Given the description of an element on the screen output the (x, y) to click on. 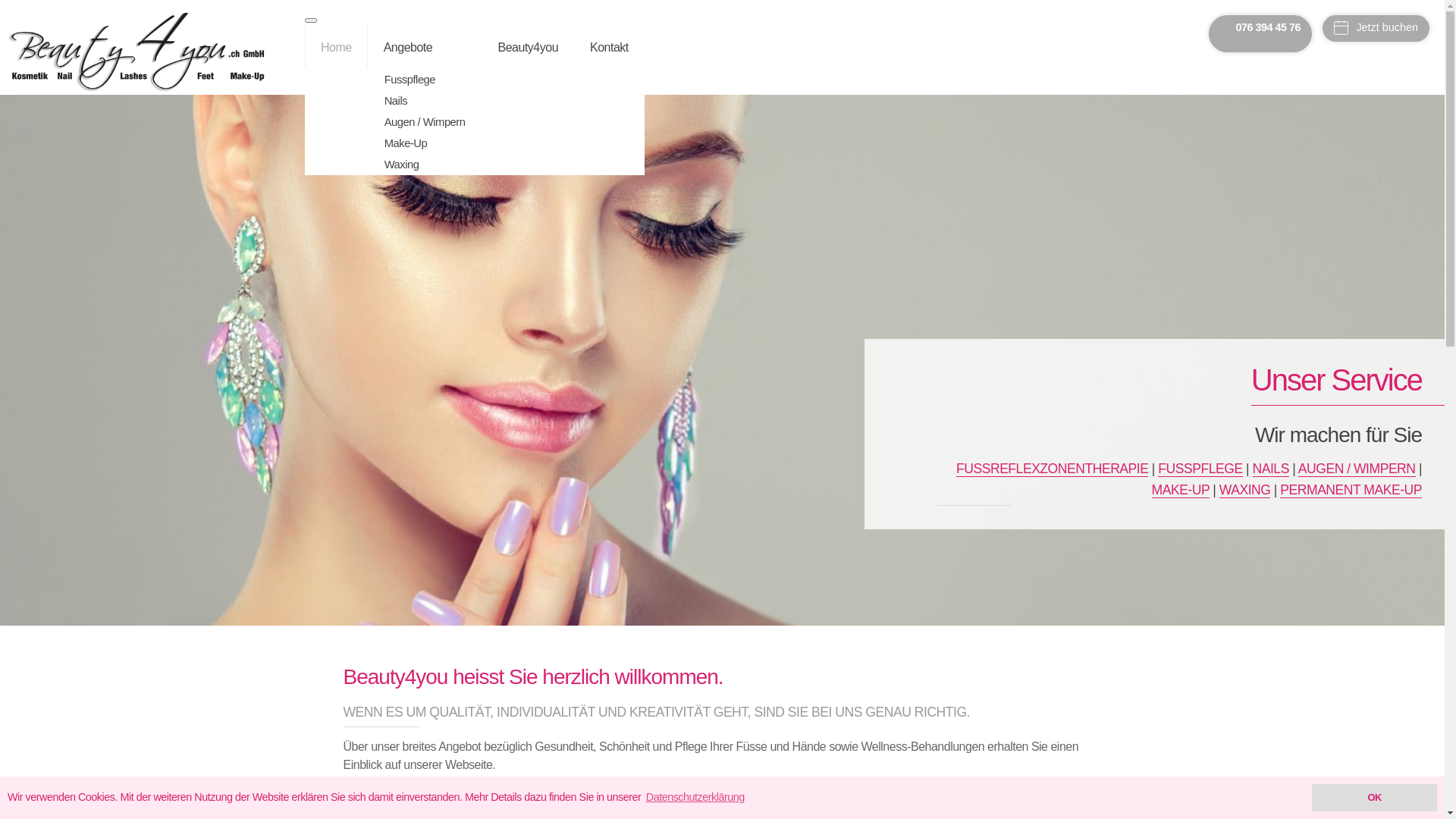
MAKE-UP Element type: text (1180, 490)
Waxing Element type: text (440, 164)
Augen / Wimpern Element type: text (440, 121)
FUSSREFLEXZONENTHERAPIE Element type: text (1052, 468)
076 394 45 76 Element type: text (1260, 27)
FUSSPFLEGE Element type: text (1199, 468)
Beauty4you Element type: text (543, 46)
NAILS Element type: text (1270, 468)
Beauty4you Element type: hover (136, 51)
PERMANENT MAKE-UP Element type: text (1350, 490)
Jetzt buchen Element type: text (1375, 28)
Kontakt Element type: text (624, 46)
OK Element type: text (1374, 797)
WAXING Element type: text (1244, 490)
AUGEN / WIMPERN Element type: text (1356, 468)
Fusspflege Element type: text (440, 79)
Angebote Element type: text (439, 46)
Make-Up Element type: text (440, 142)
Nails Element type: text (440, 100)
Home Element type: text (351, 46)
